Given the description of an element on the screen output the (x, y) to click on. 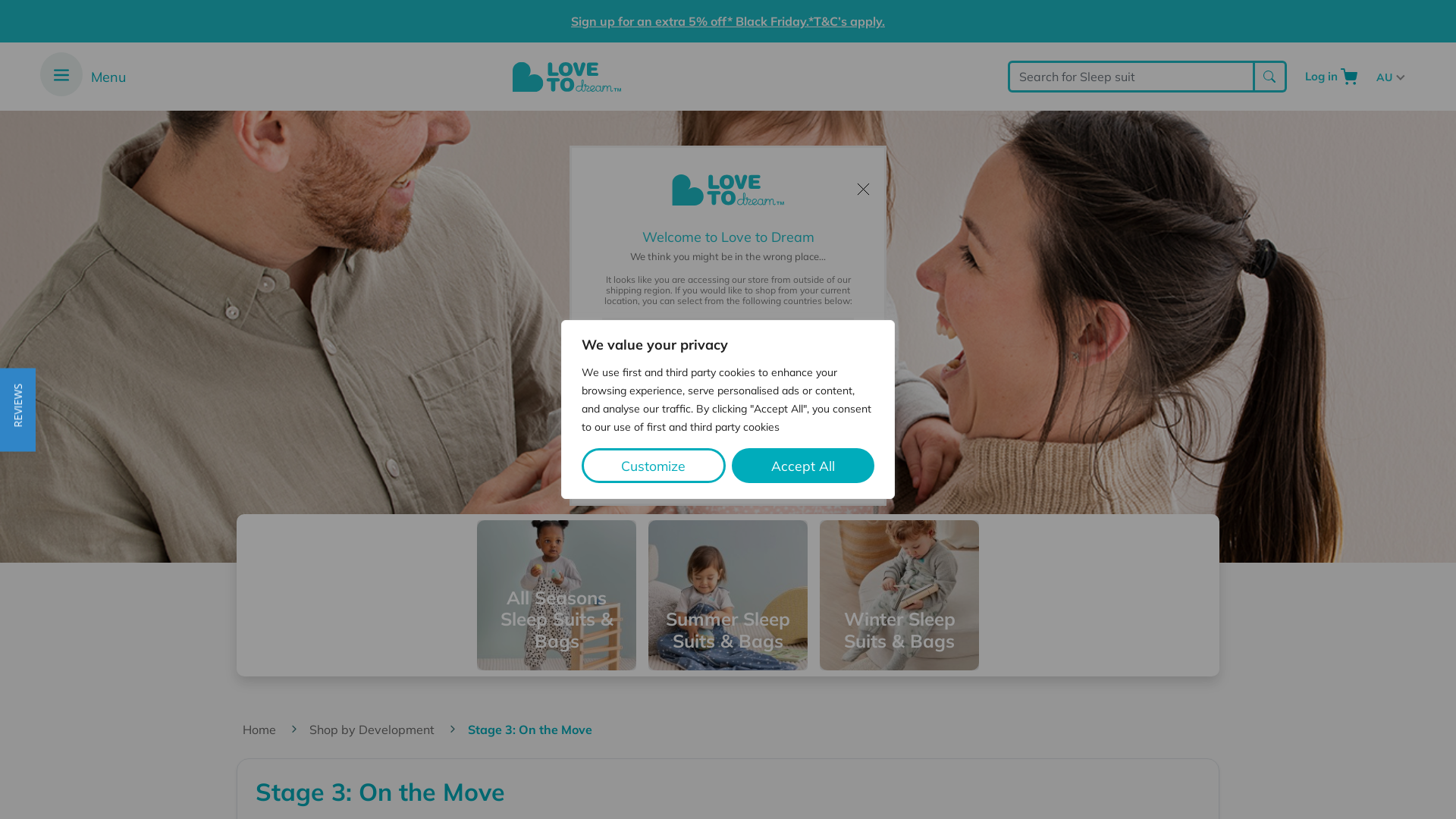
Home Element type: text (275, 729)
France
EURO Element type: text (725, 701)
Australia
$AUD Element type: text (725, 409)
United States
$USD Element type: text (725, 493)
Shop by Development Element type: text (388, 729)
Stage 3: On the Move Element type: text (534, 729)
Image
All Seasons Sleep Suits & Bags Element type: text (556, 595)
Log in Element type: text (1321, 76)
Spain
EURO Element type: text (725, 618)
AU Element type: text (1388, 77)
Italy
EURO Element type: text (725, 659)
China
RMB Element type: text (725, 368)
Search Element type: text (1270, 76)
Image
Summer Sleep Suits & Bags Element type: text (727, 595)
South Africa
ZAR Element type: text (725, 743)
Germany
EURO Element type: text (725, 576)
Canada
$CAD Element type: text (725, 534)
Image
Winter Sleep Suits & Bags Element type: text (899, 595)
Philippines
PHP Element type: text (725, 785)
